Given the description of an element on the screen output the (x, y) to click on. 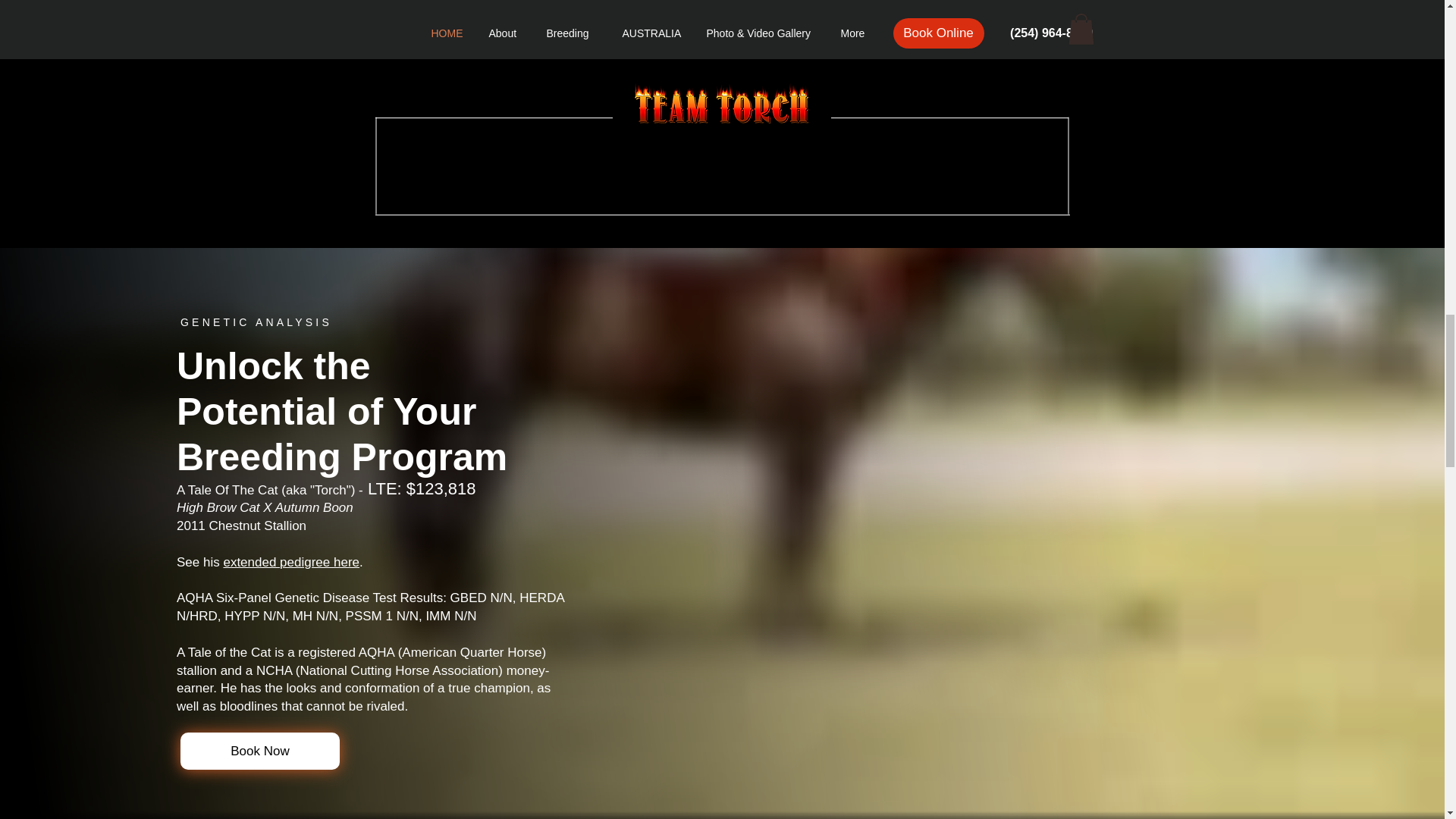
Book Now (259, 750)
extended pedigree here (290, 562)
